Given the description of an element on the screen output the (x, y) to click on. 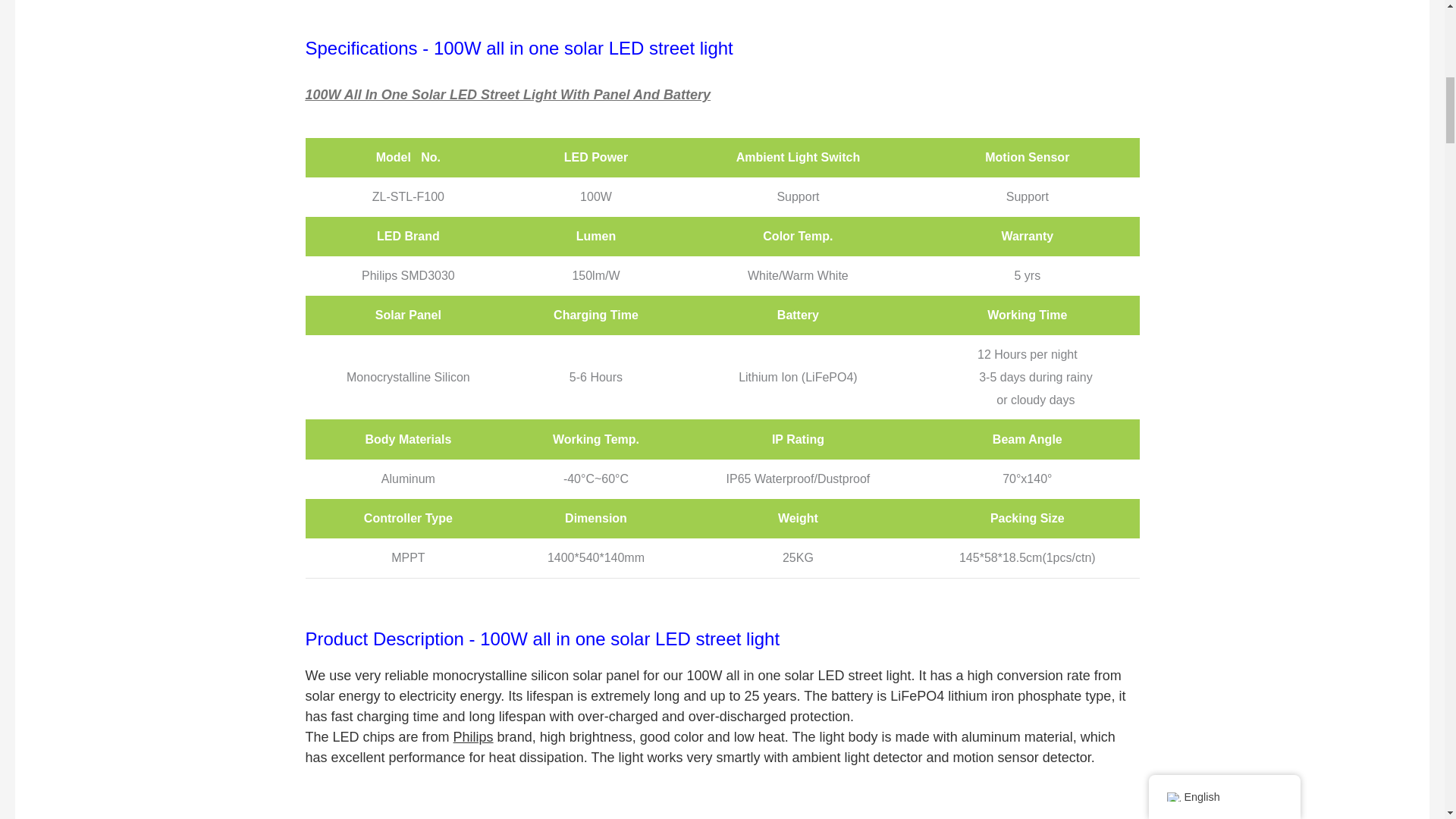
40w 50w 60w integrated all in one solar led street light (722, 804)
